Given the description of an element on the screen output the (x, y) to click on. 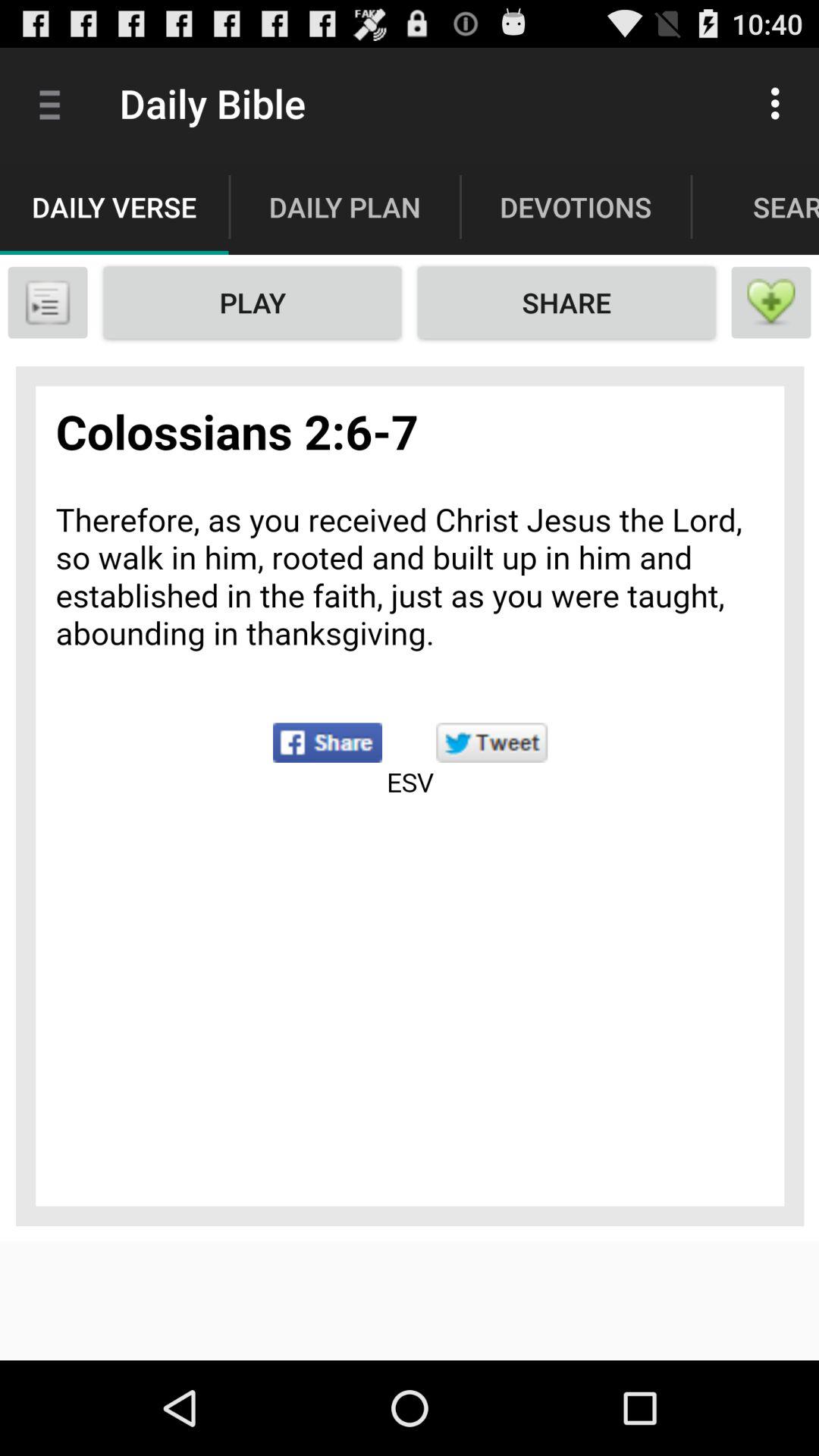
color print (409, 795)
